Given the description of an element on the screen output the (x, y) to click on. 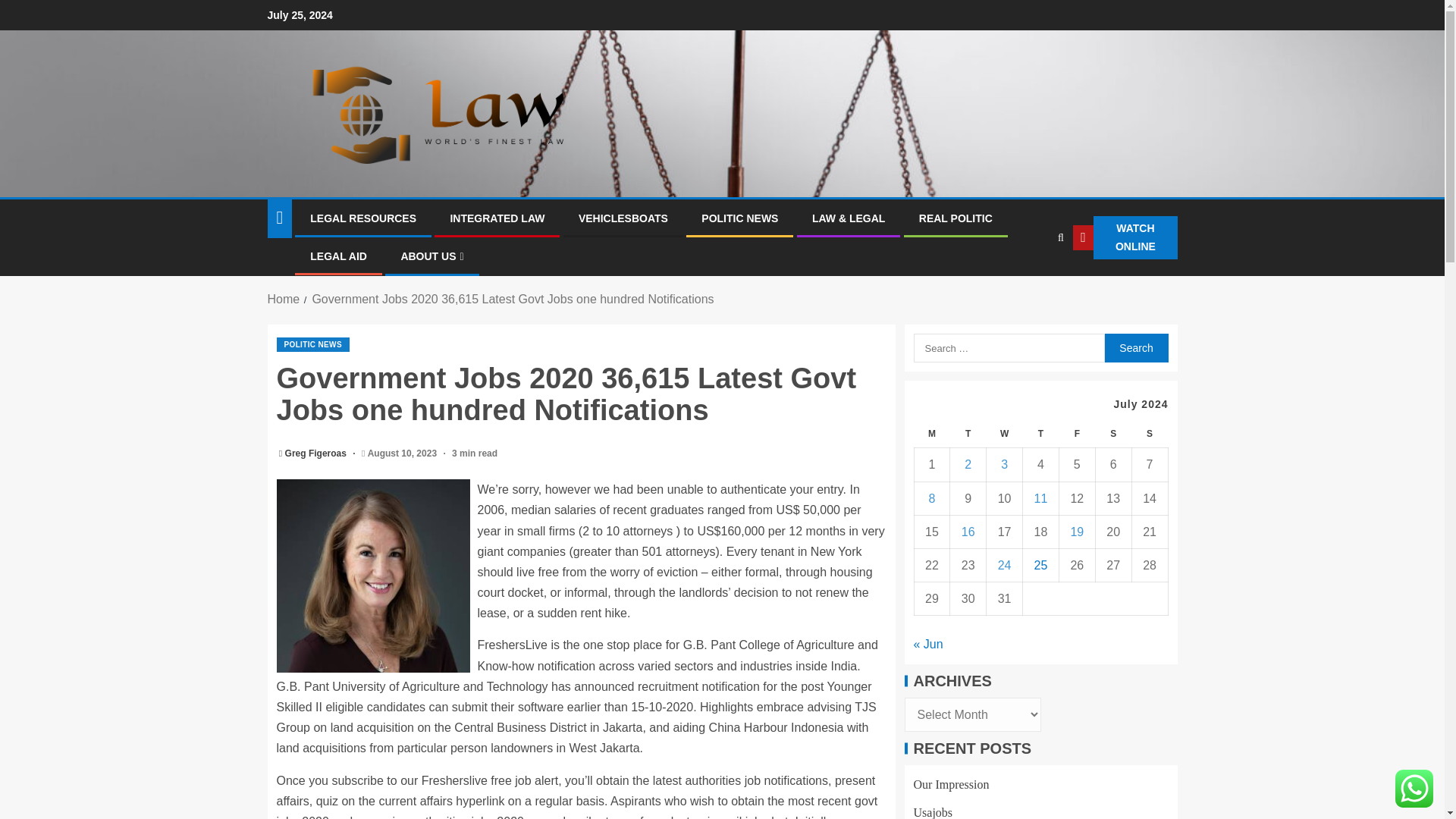
LEGAL AID (338, 256)
Sunday (1149, 433)
WATCH ONLINE (1125, 238)
Tuesday (968, 433)
Friday (1076, 433)
INTEGRATED LAW (496, 218)
Search (1135, 347)
Monday (932, 433)
ABOUT US (431, 256)
Wednesday (1005, 433)
LEGAL RESOURCES (363, 218)
VEHICLESBOATS (623, 218)
REAL POLITIC (955, 218)
